Given the description of an element on the screen output the (x, y) to click on. 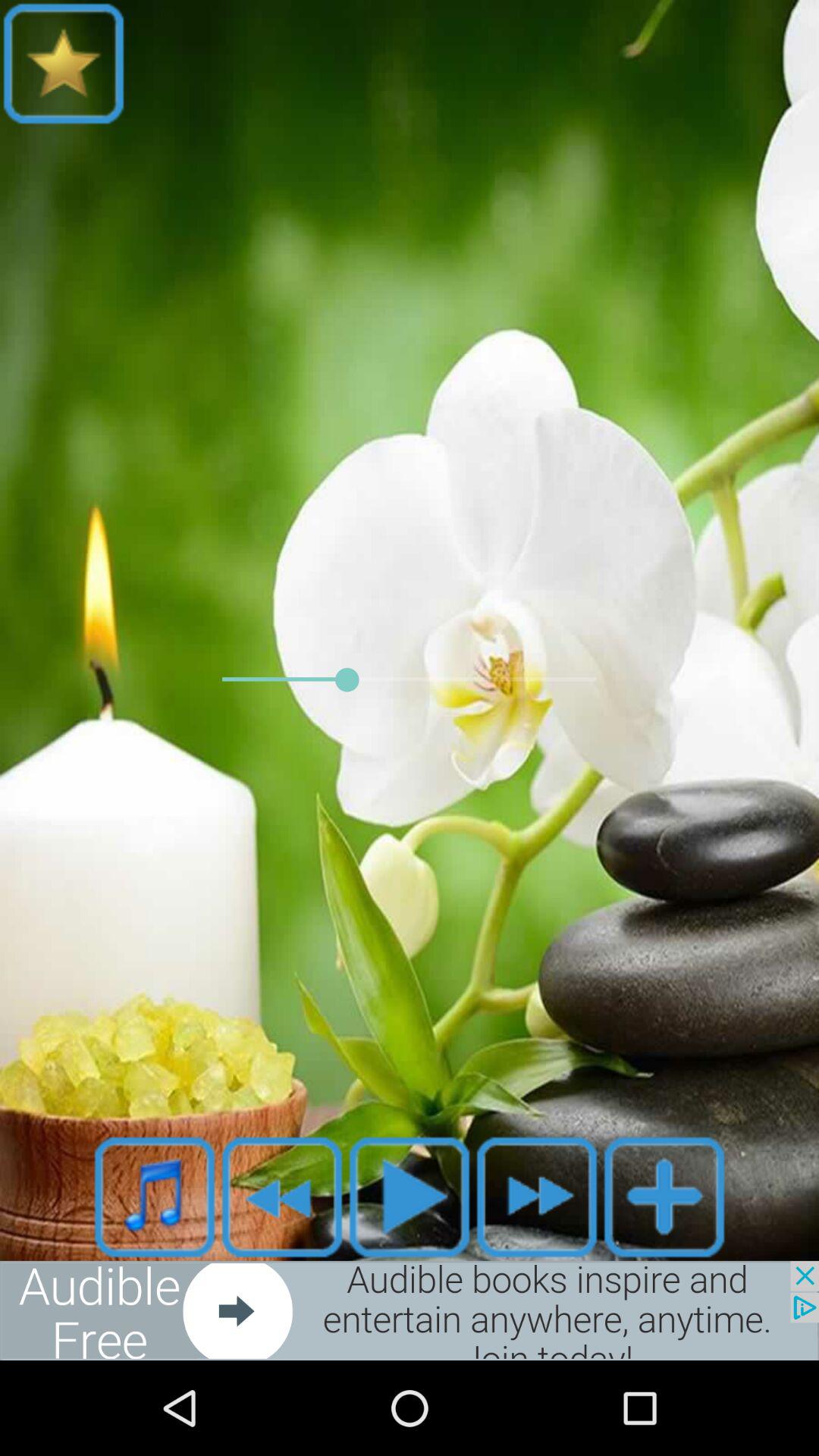
advertising (409, 1310)
